Given the description of an element on the screen output the (x, y) to click on. 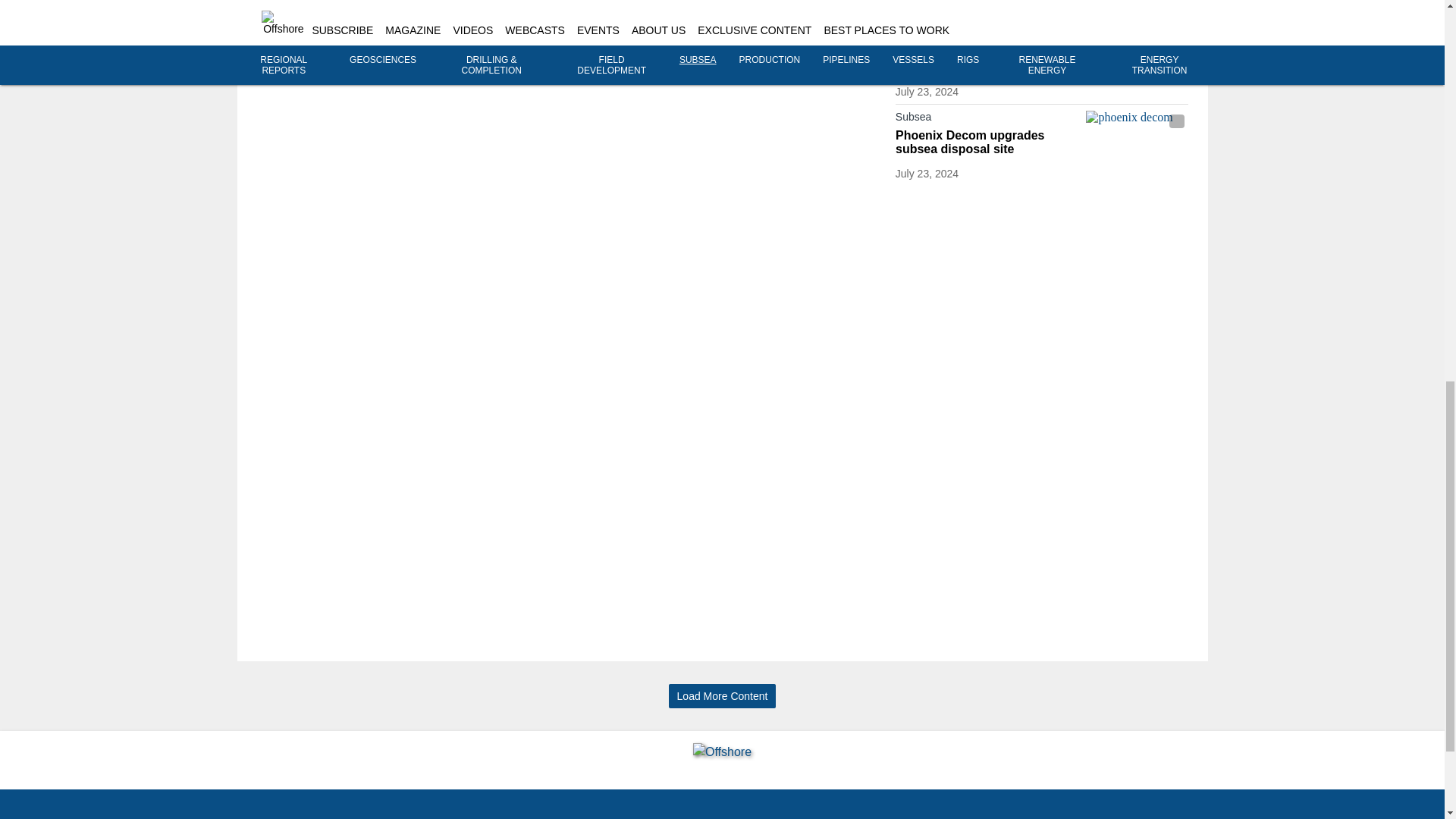
phoenix decom  (1137, 138)
Energean FPSO (1137, 43)
